Given the description of an element on the screen output the (x, y) to click on. 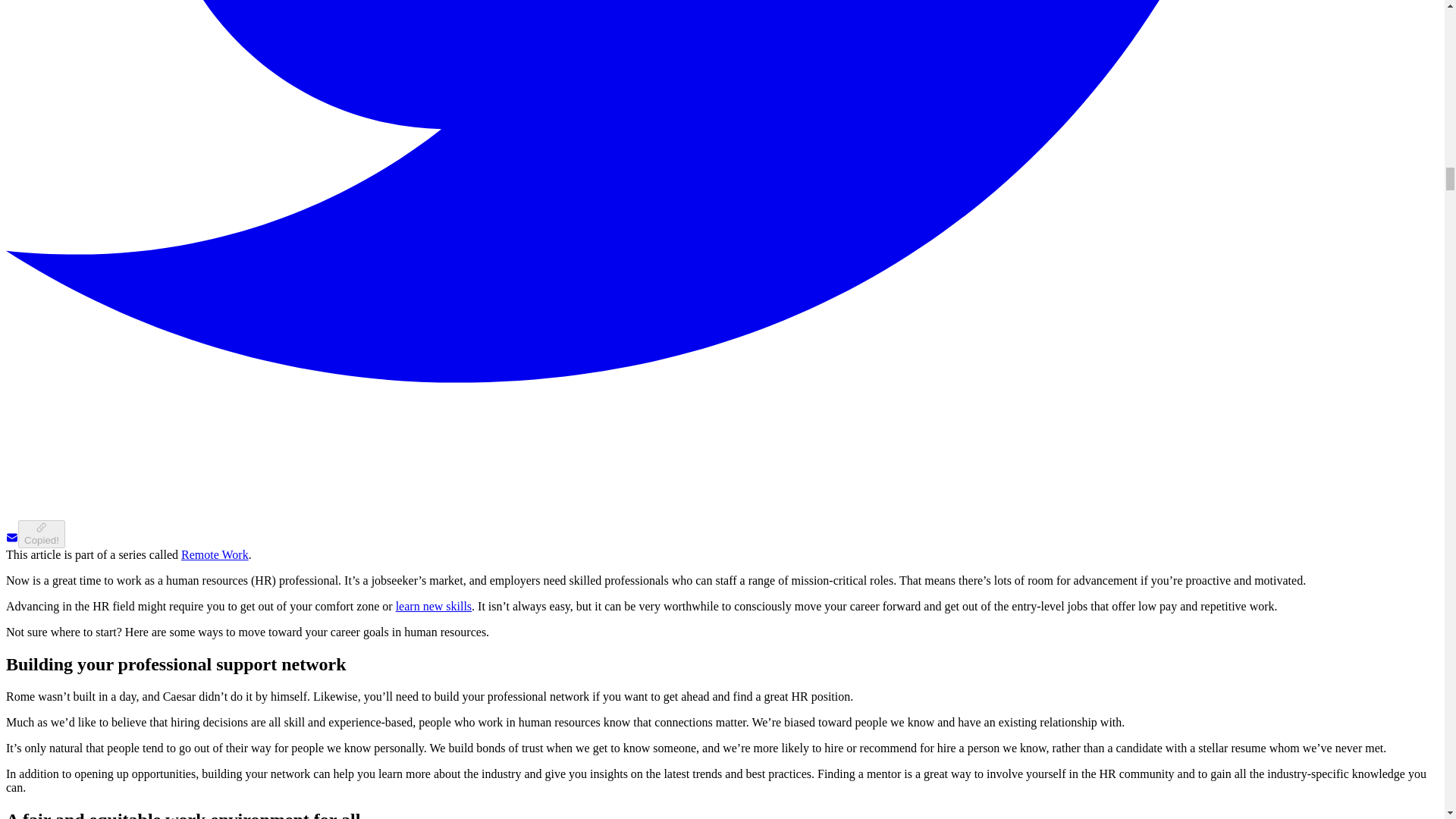
learn new skills (433, 605)
Copied! (41, 533)
Remote Work (214, 554)
